Given the description of an element on the screen output the (x, y) to click on. 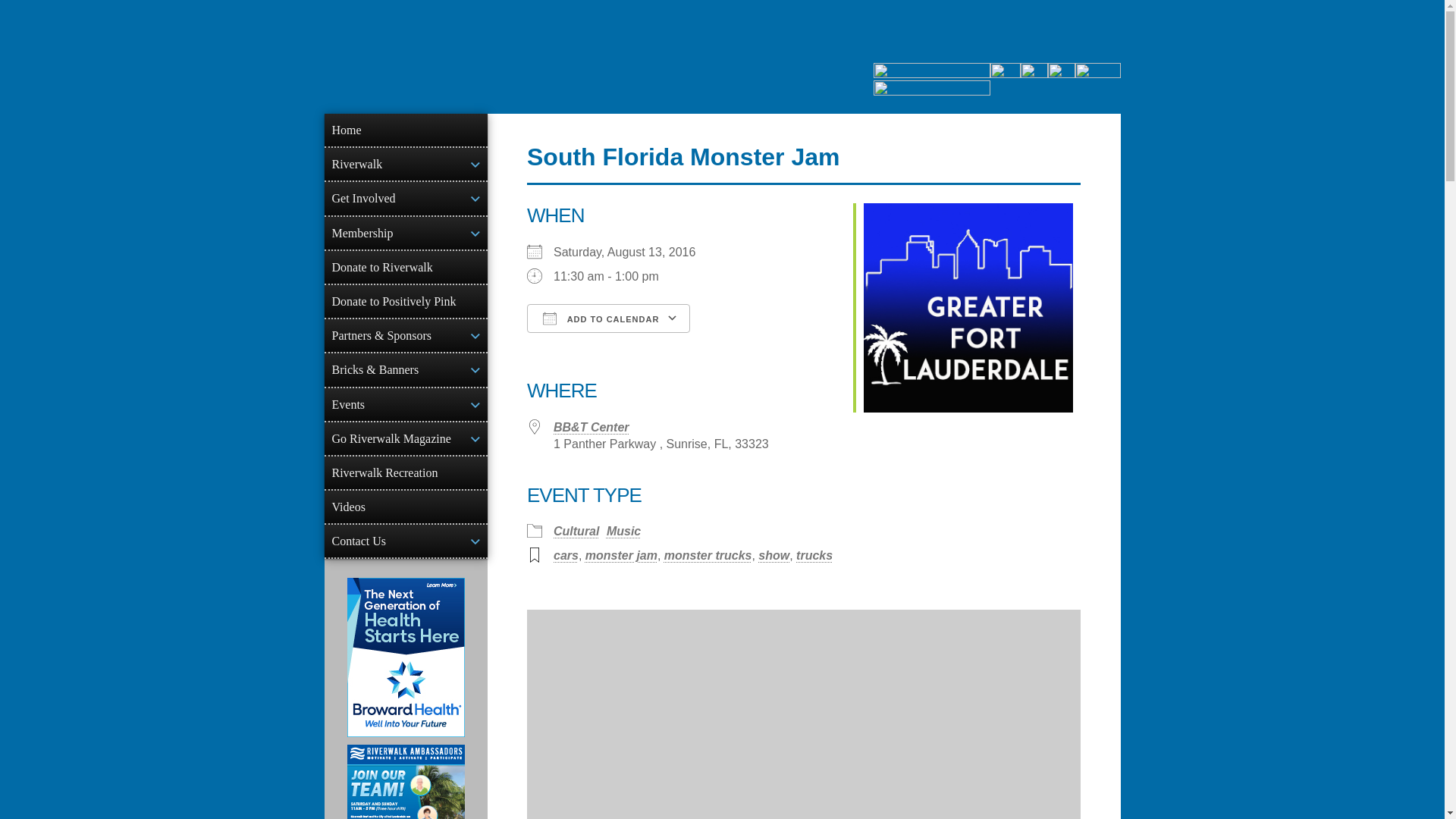
trucks (814, 554)
Music (623, 530)
Get Involved (405, 197)
Home (405, 129)
Riverwalk (405, 164)
Download ICS (543, 344)
monster trucks (707, 554)
Cultural (575, 530)
show (773, 554)
monster jam (621, 554)
